Given the description of an element on the screen output the (x, y) to click on. 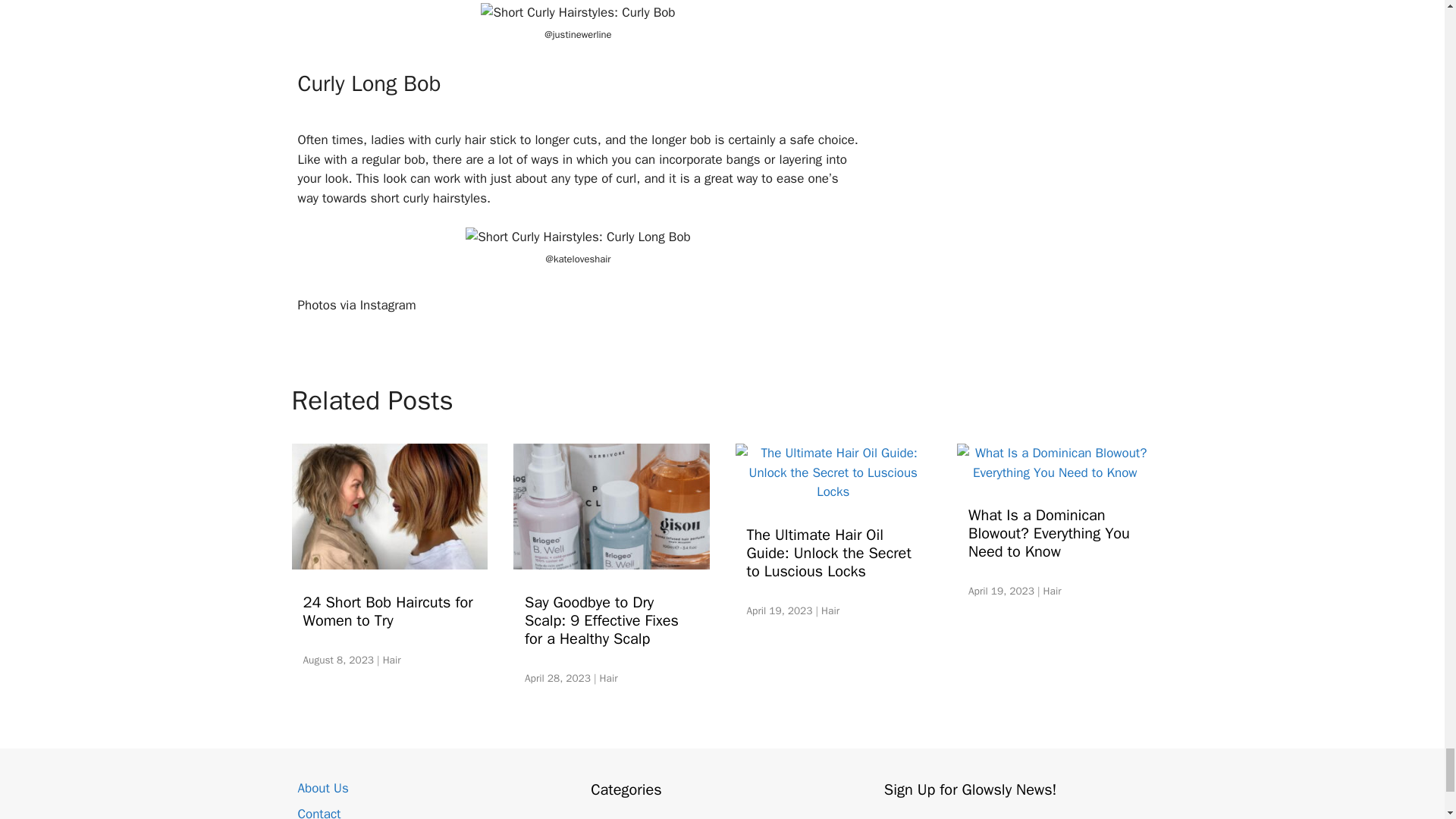
3:07 pm (557, 677)
What Is a Dominican Blowout? Everything You Need to Know (1054, 472)
24 Short Bob Haircuts for Women to Try (389, 560)
4:10 pm (1000, 590)
8:55 pm (338, 659)
4:38 pm (778, 610)
